Given the description of an element on the screen output the (x, y) to click on. 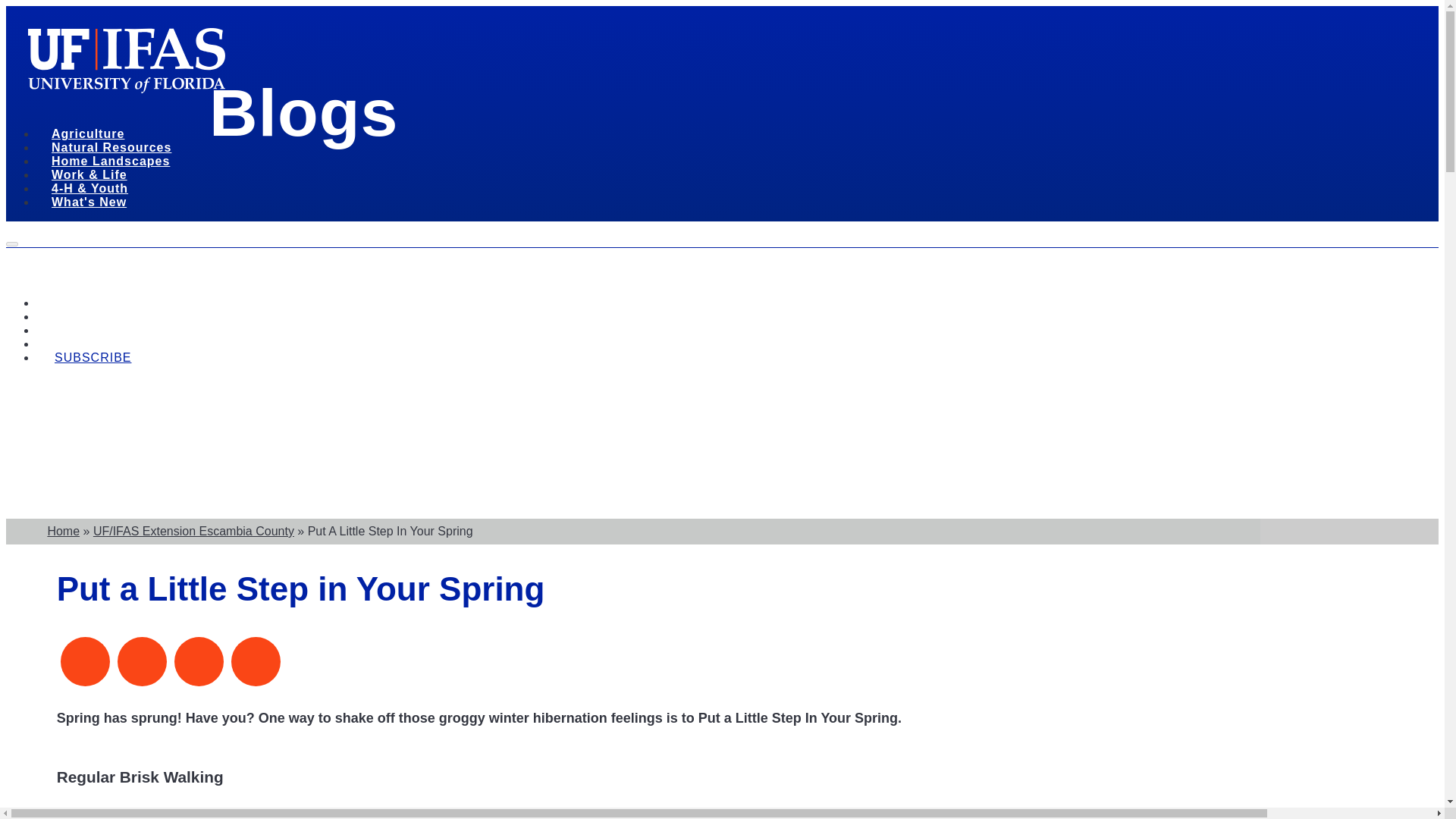
Agriculture (92, 135)
Natural Resources (116, 149)
Home (52, 330)
SUBSCRIBE (84, 357)
Home Landscapes (115, 162)
About (52, 316)
Blogs (303, 112)
Blog Directory (75, 344)
